Given the description of an element on the screen output the (x, y) to click on. 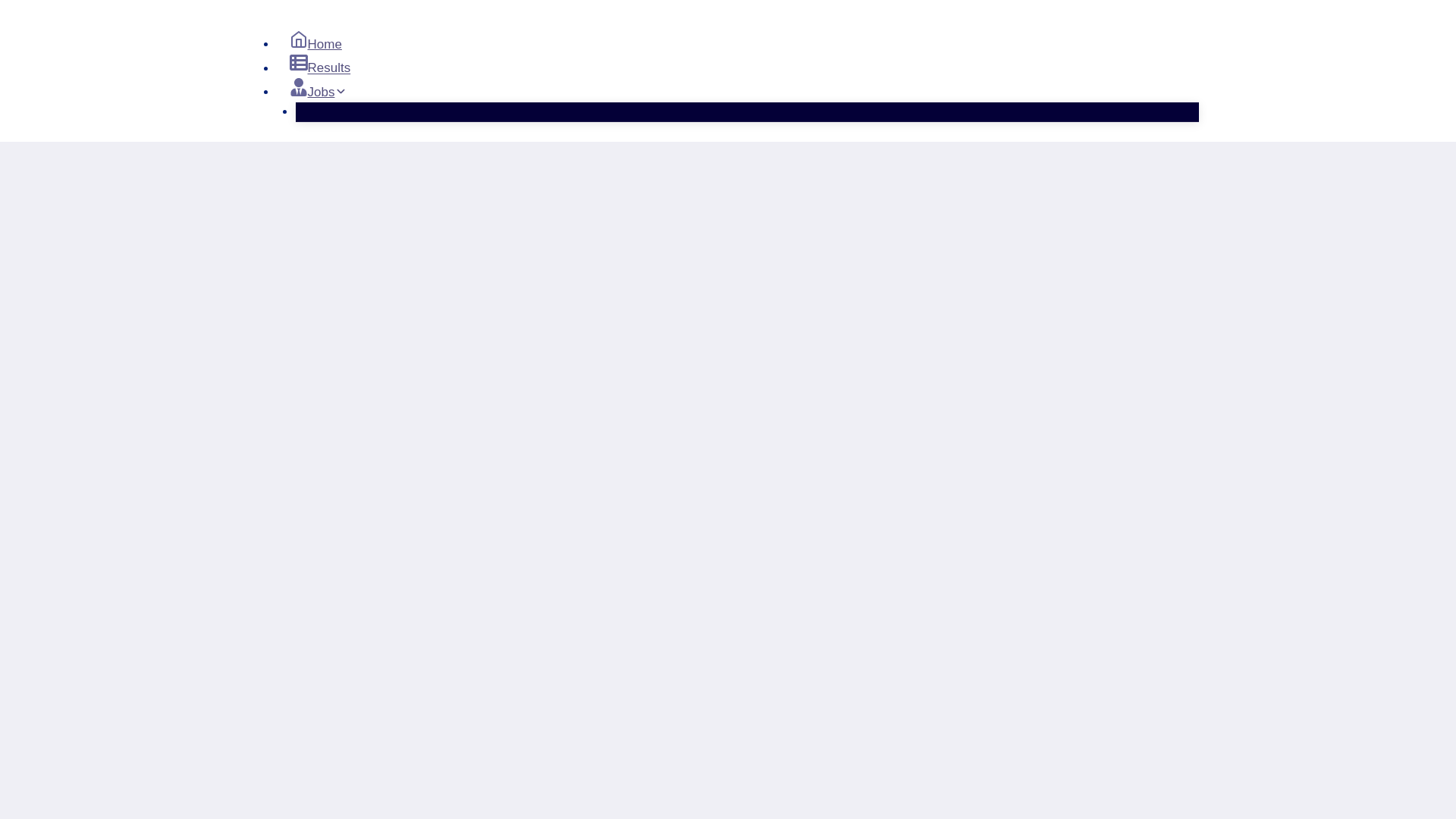
Home (314, 43)
Results (319, 67)
Jobs (317, 91)
